Given the description of an element on the screen output the (x, y) to click on. 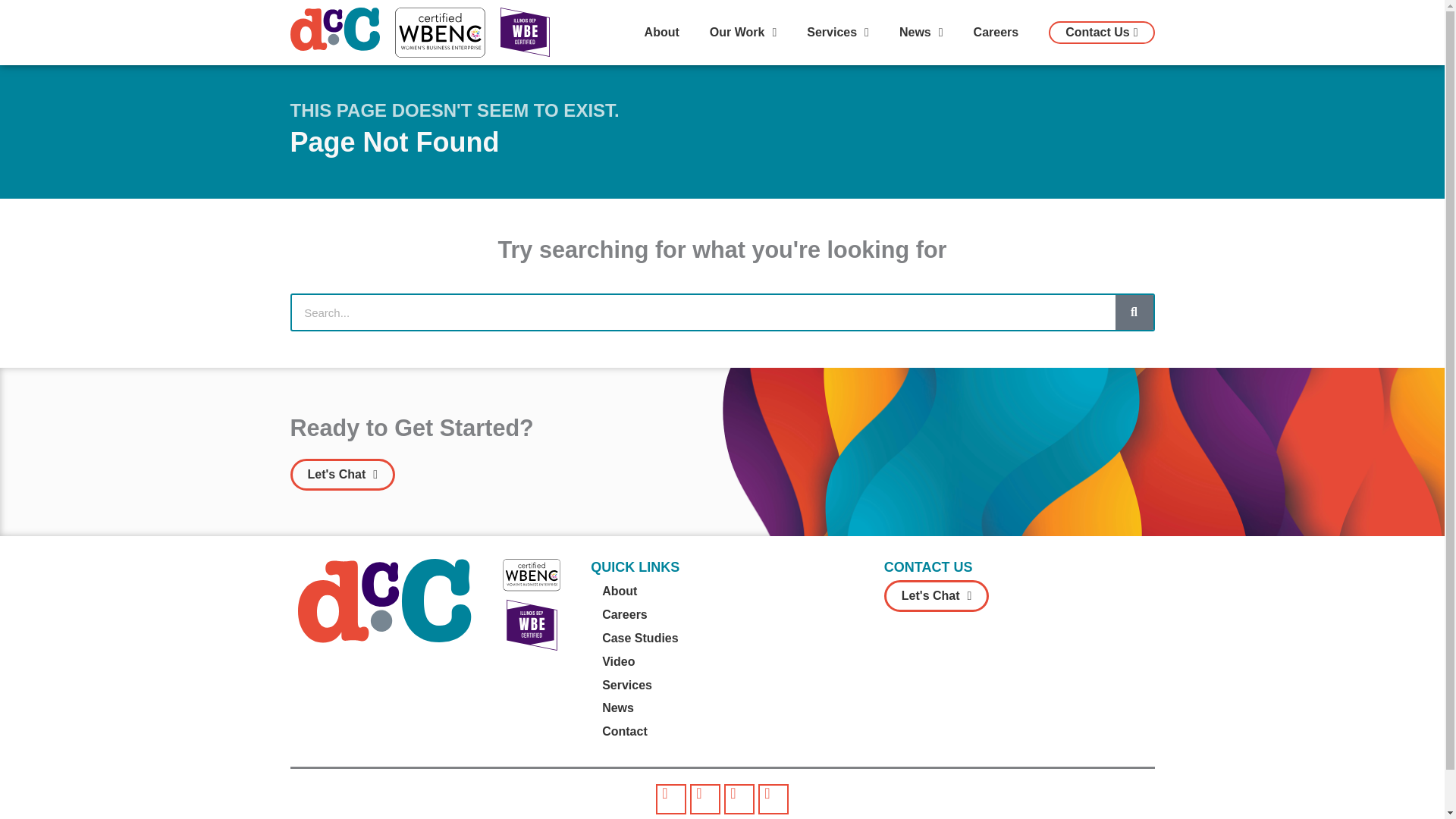
Our Work (743, 32)
About (661, 32)
Contact Us (1101, 32)
Careers (995, 32)
News (920, 32)
Services (837, 32)
